Given the description of an element on the screen output the (x, y) to click on. 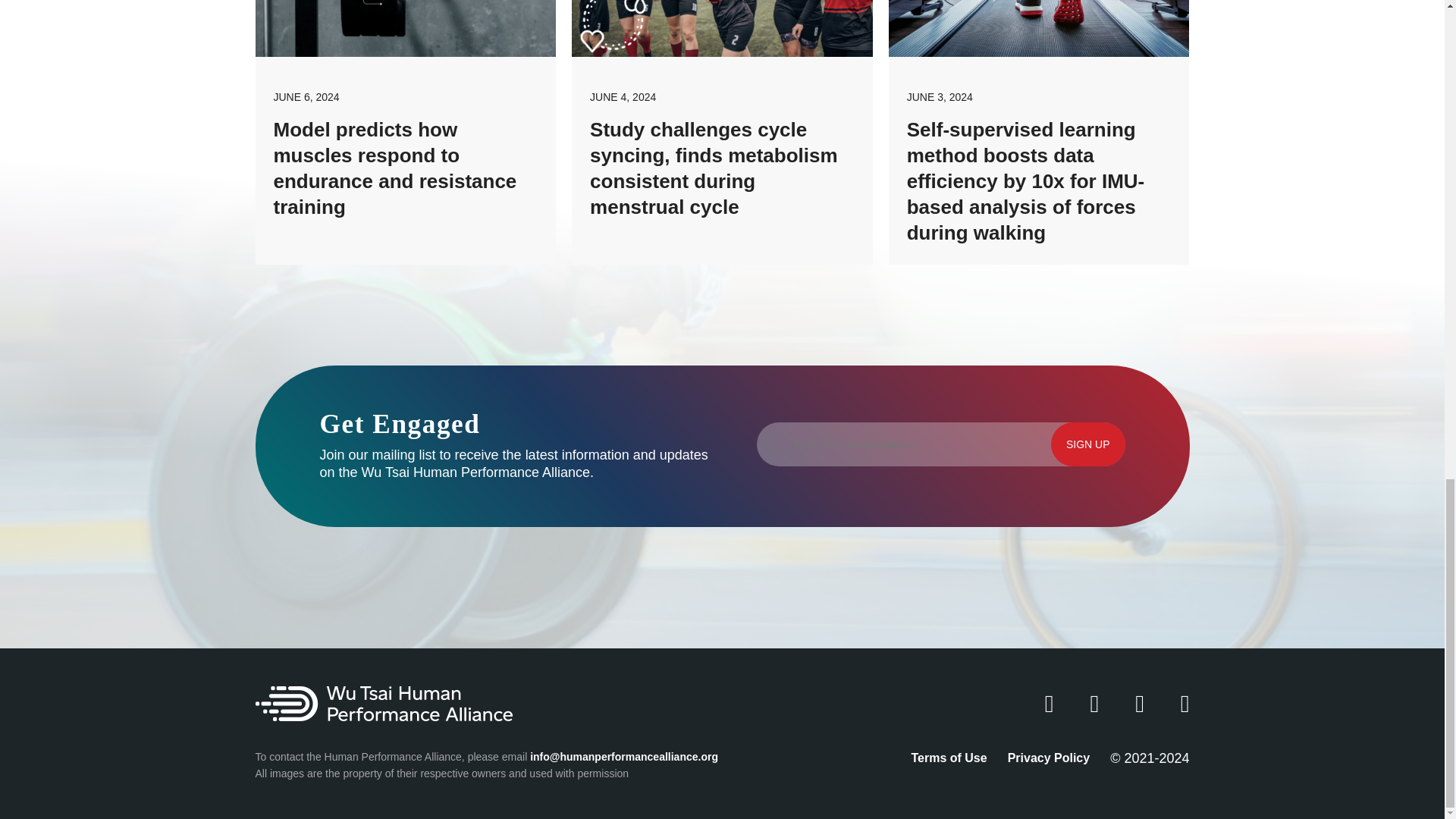
Privacy Policy (1048, 757)
Sign up (1088, 444)
Terms of Use (949, 757)
Sign up (1088, 444)
